Given the description of an element on the screen output the (x, y) to click on. 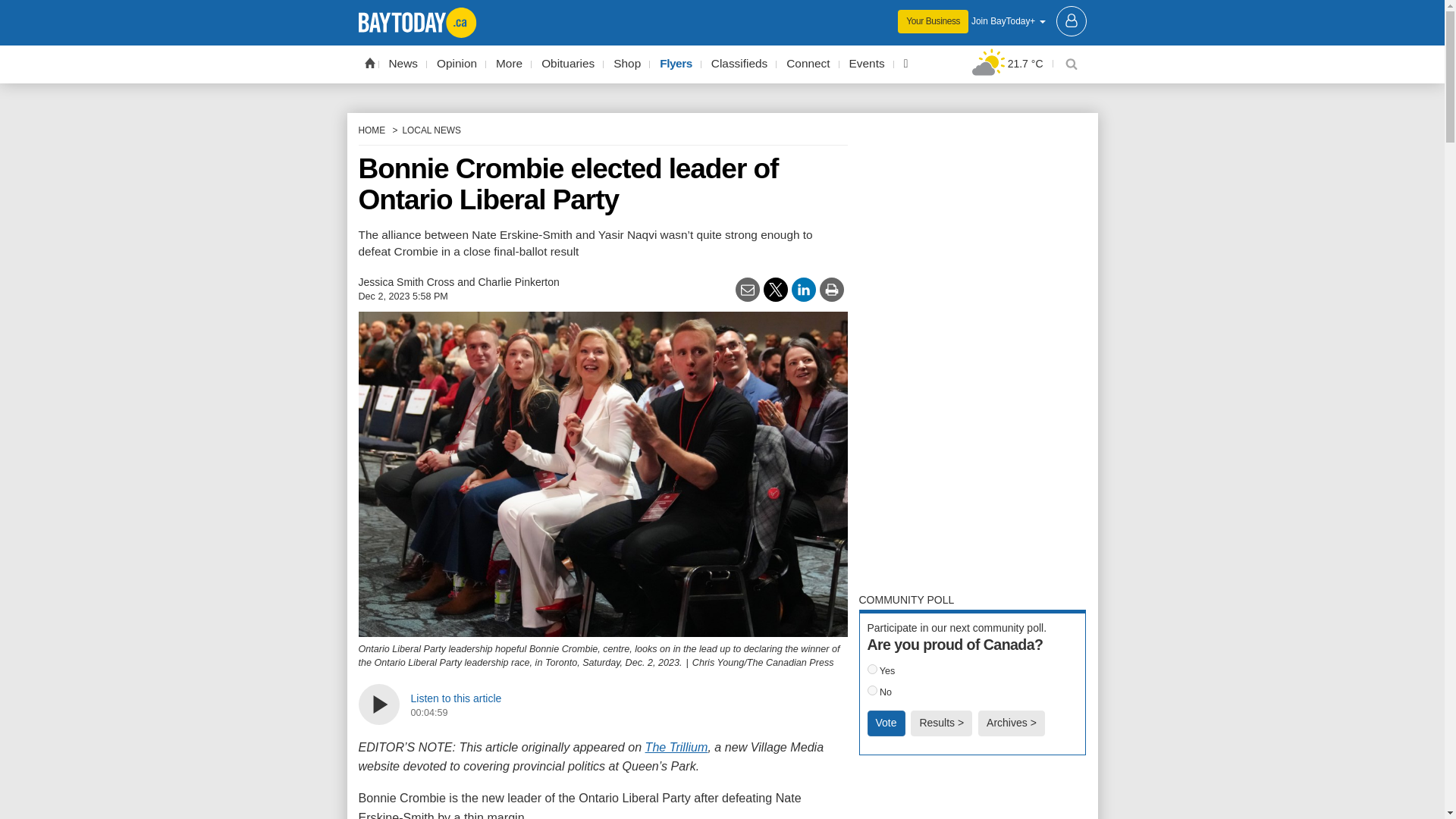
122182 (872, 669)
News (403, 64)
Your Business (933, 21)
3rd party ad content (972, 794)
3rd party ad content (722, 10)
122183 (872, 690)
Home (368, 62)
